Given the description of an element on the screen output the (x, y) to click on. 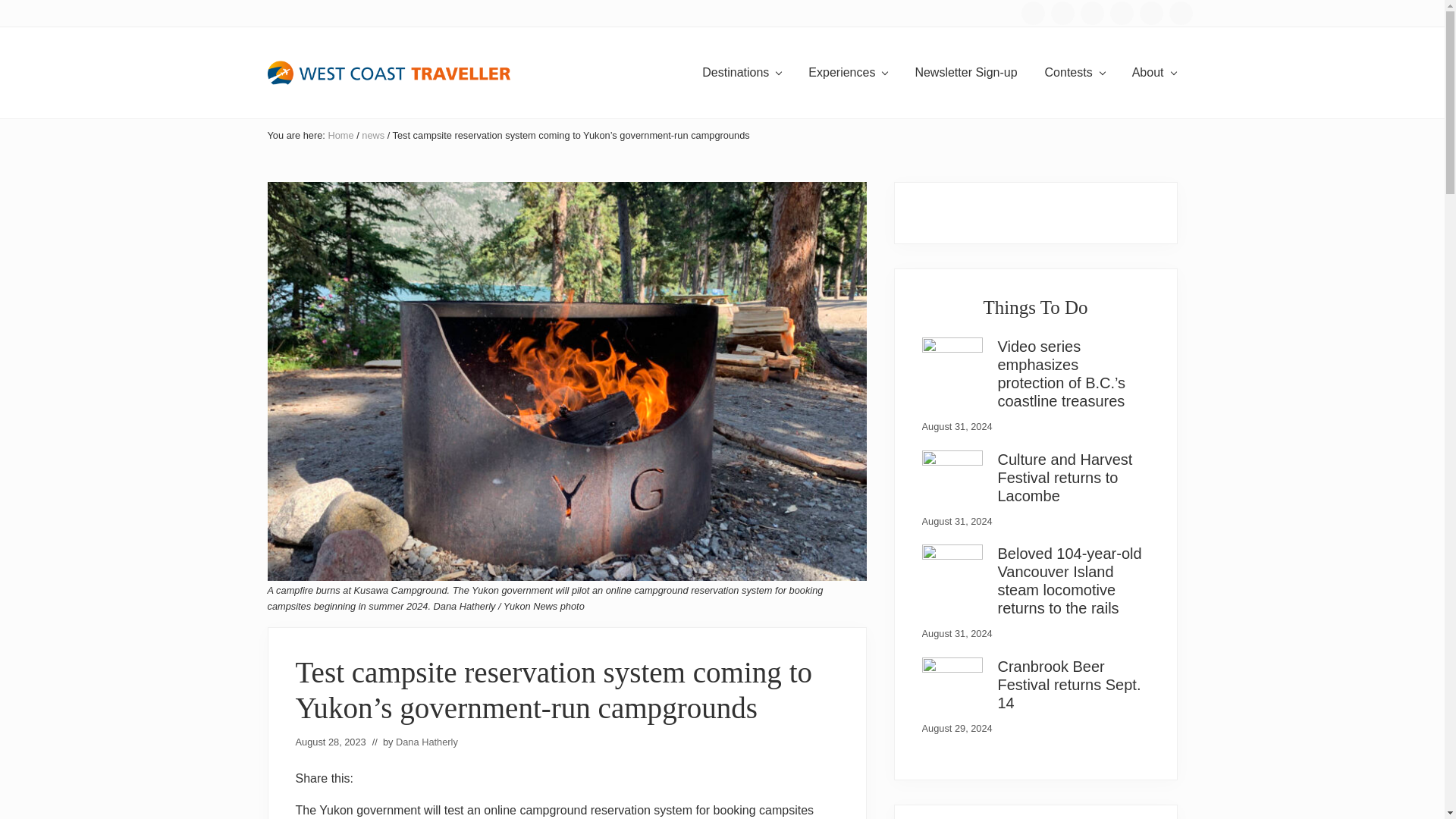
Facebook (1032, 12)
YouTube (1149, 12)
Flickr Icon (1180, 12)
Instagram (1062, 12)
TikTok Icon (1091, 12)
Twitter (1122, 12)
